Given the description of an element on the screen output the (x, y) to click on. 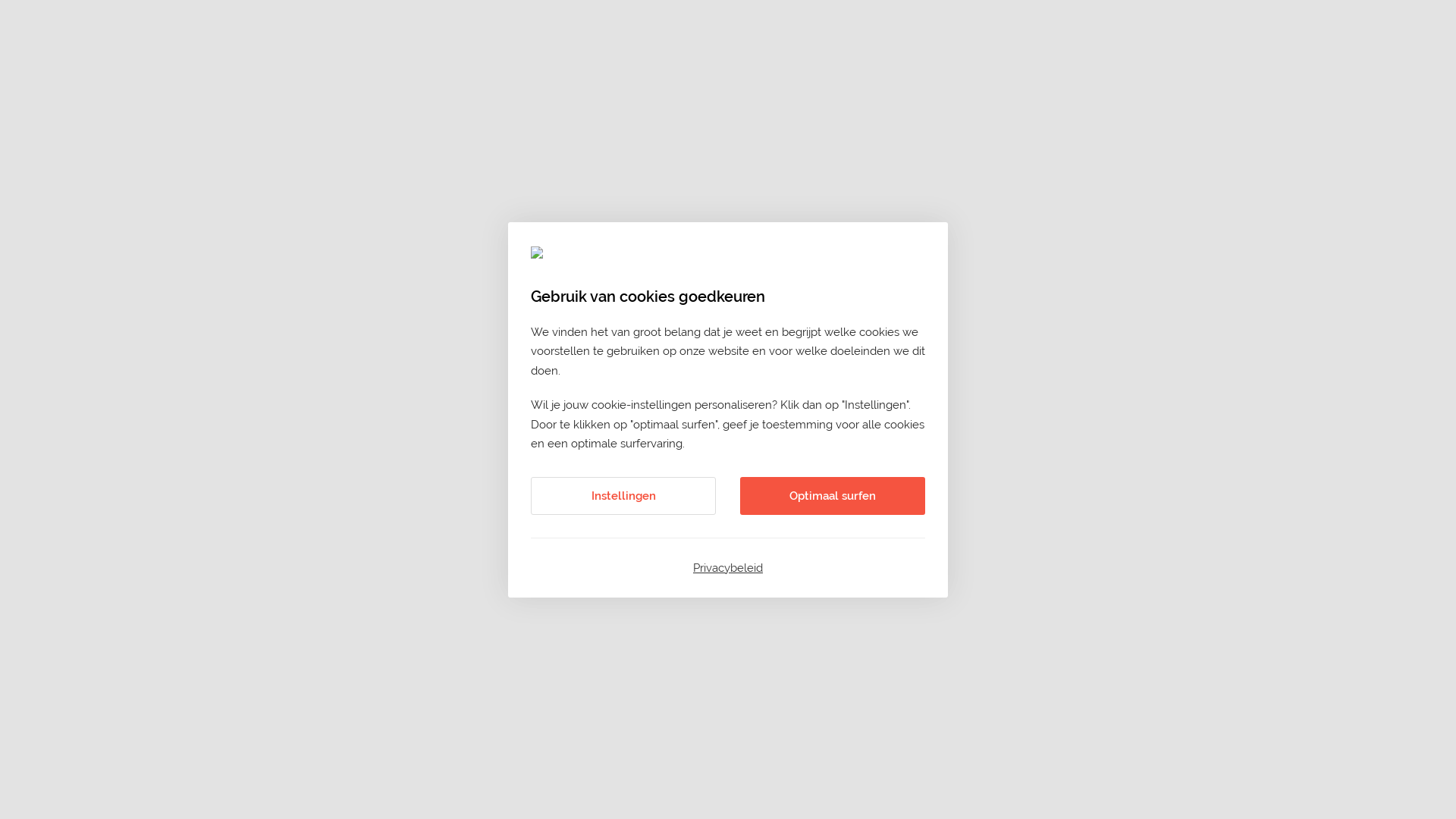
Instellingen Element type: text (622, 495)
Privacybeleid Element type: text (727, 567)
Optimaal surfen Element type: text (832, 495)
